Given the description of an element on the screen output the (x, y) to click on. 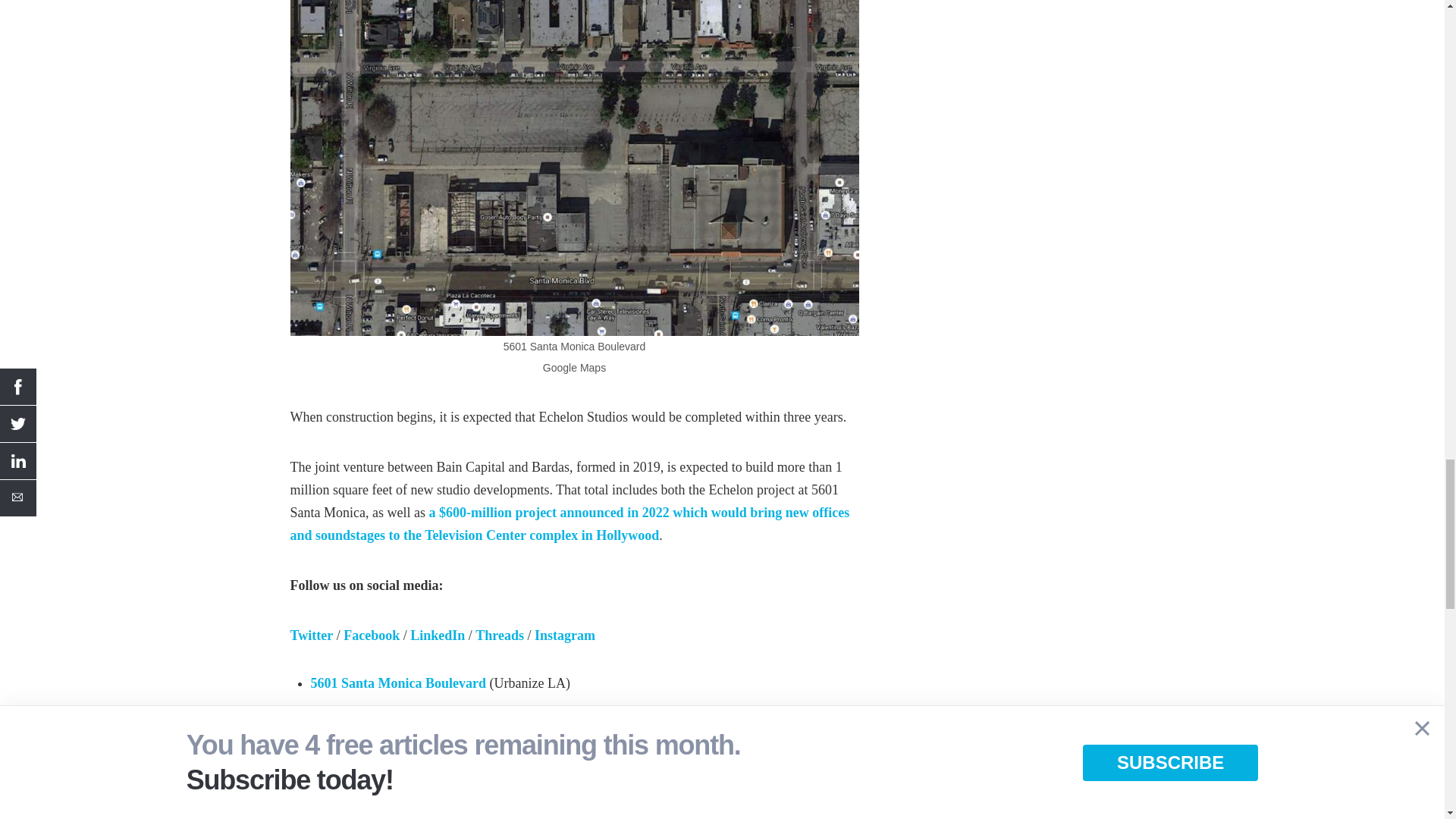
Google Maps (574, 161)
